Given the description of an element on the screen output the (x, y) to click on. 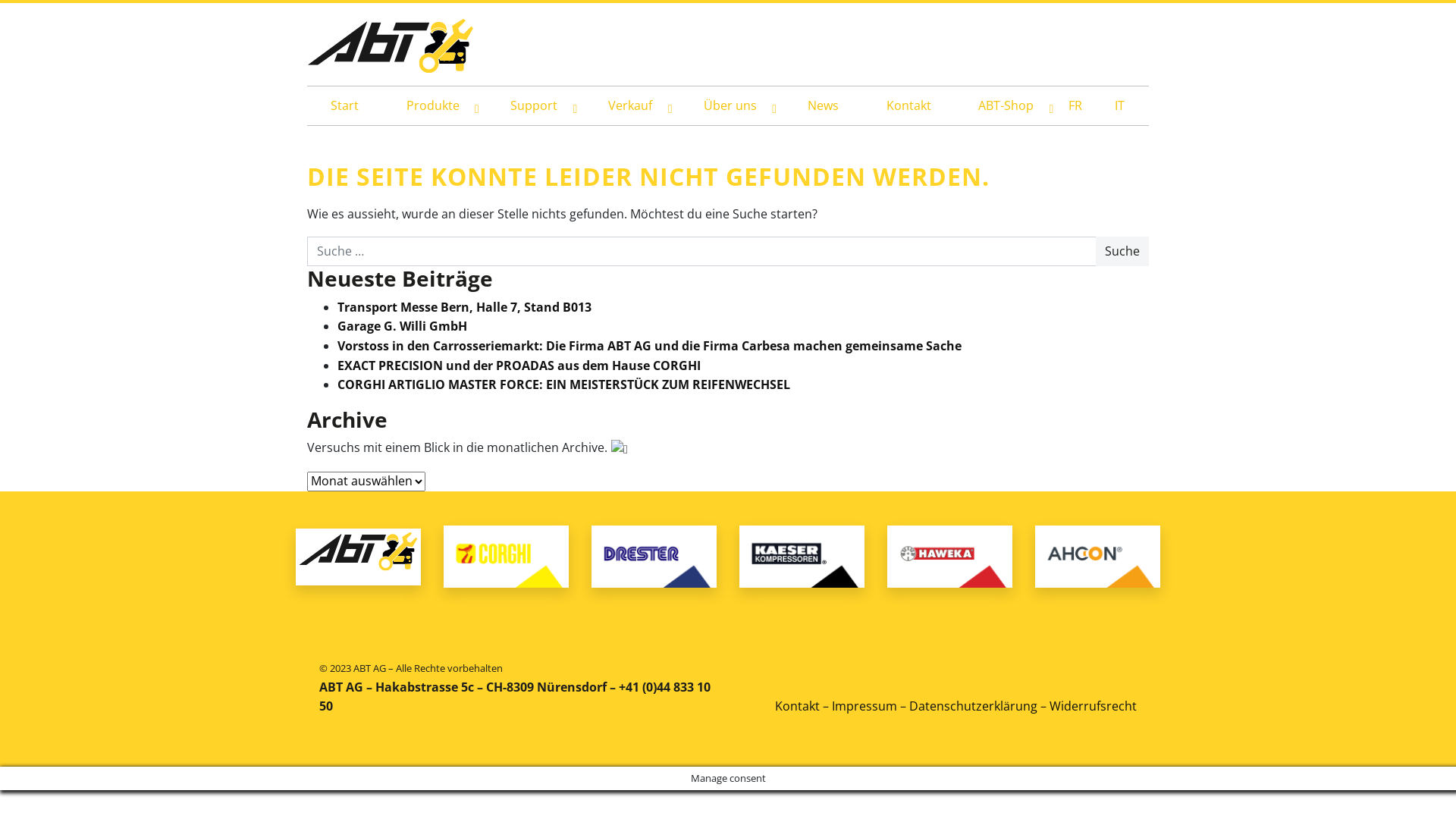
ABT-Shop Element type: text (1007, 105)
FR Element type: text (1083, 105)
Impressum Element type: text (864, 705)
Garage G. Willi GmbH Element type: text (402, 325)
Start Element type: text (344, 105)
Support Element type: text (535, 105)
Verkauf Element type: text (631, 105)
Transport Messe Bern, Halle 7, Stand B013 Element type: text (464, 306)
Kontakt Element type: text (907, 105)
EXACT PRECISION und der PROADAS aus dem Hause CORGHI Element type: text (518, 365)
Produkte Element type: text (434, 105)
Kontakt Element type: text (797, 705)
Widerrufsrecht Element type: text (1092, 705)
ABT AG Element type: hover (390, 50)
Suche Element type: text (1121, 251)
IT Element type: text (1127, 105)
News Element type: text (823, 105)
